Given the description of an element on the screen output the (x, y) to click on. 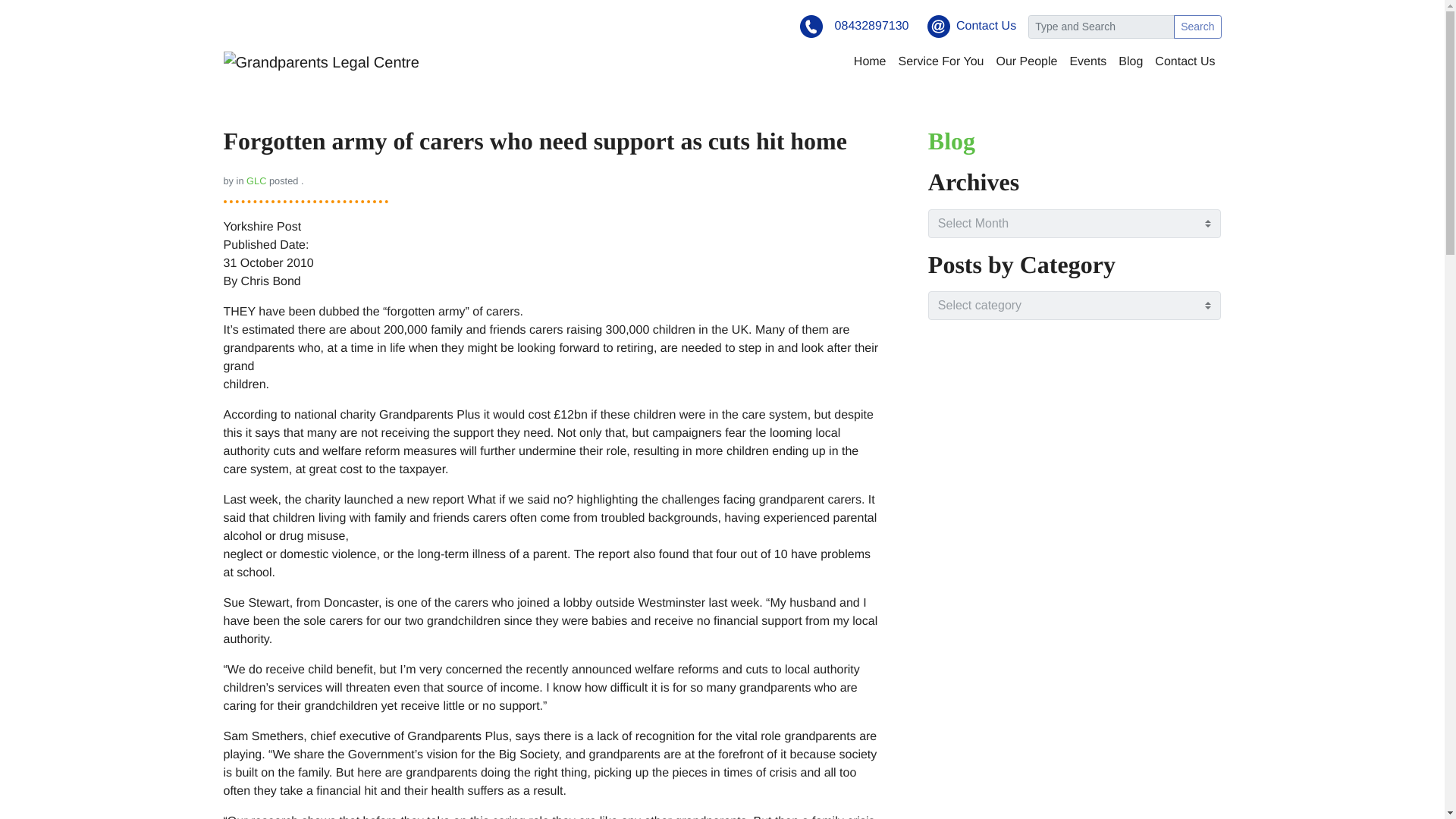
Home (869, 61)
08432897130 (871, 25)
Contact Us (986, 26)
Blog (1130, 61)
Events (1087, 61)
Service For You (941, 61)
Our People (1026, 61)
Search (1197, 26)
